Given the description of an element on the screen output the (x, y) to click on. 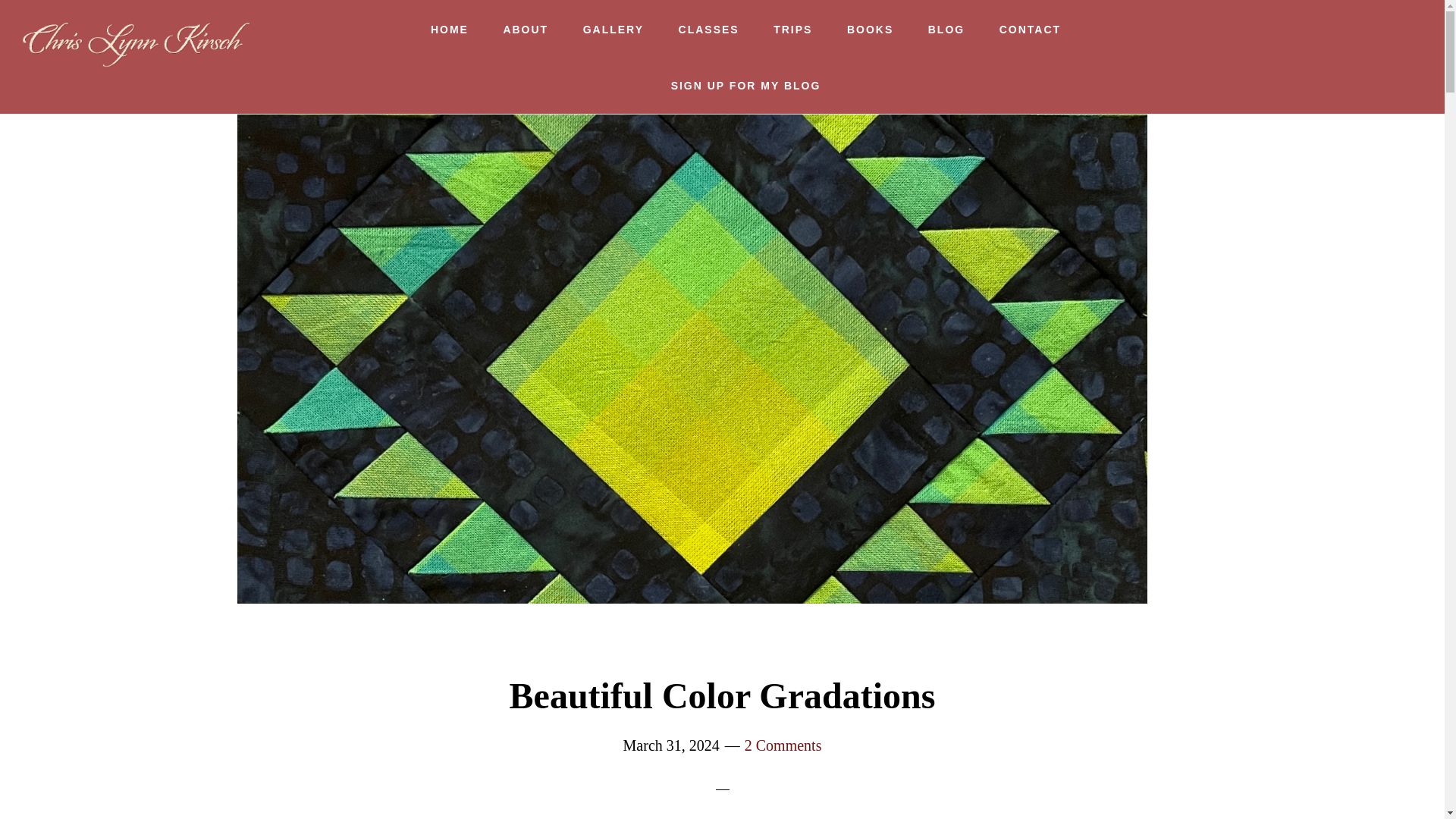
CONTACT (1029, 29)
BLOG (945, 29)
SIGN UP FOR MY BLOG (745, 85)
CLASSES (708, 29)
TRIPS (792, 29)
GALLERY (613, 29)
ABOUT (525, 29)
2 Comments (783, 745)
HOME (448, 29)
